Given the description of an element on the screen output the (x, y) to click on. 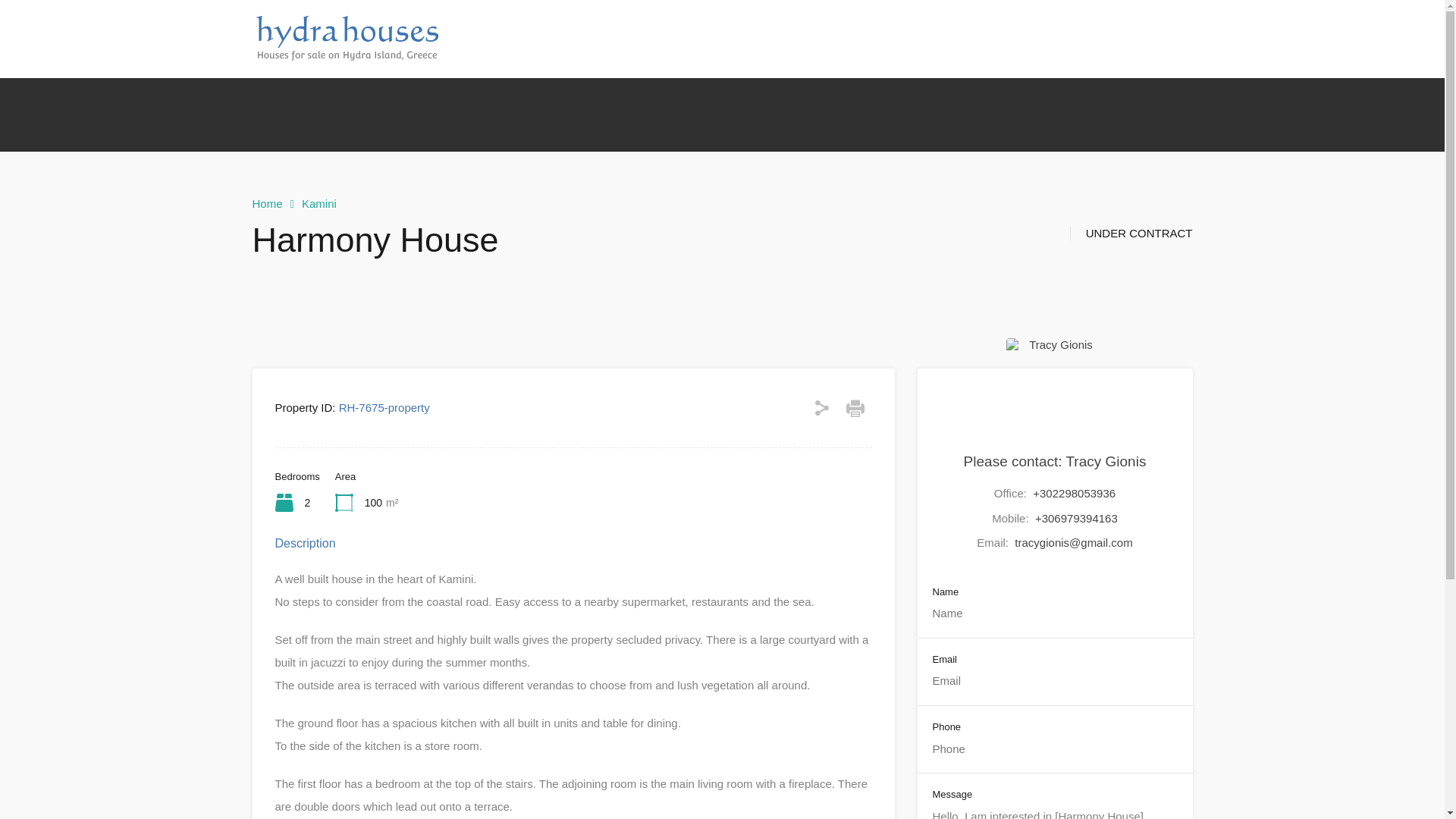
Home (266, 203)
Hydra Houses (874, 38)
Kamini (318, 203)
Contact us (1020, 38)
Blog (951, 38)
Hydra Houses (346, 54)
Properties (686, 38)
Hydra Island (774, 38)
